Given the description of an element on the screen output the (x, y) to click on. 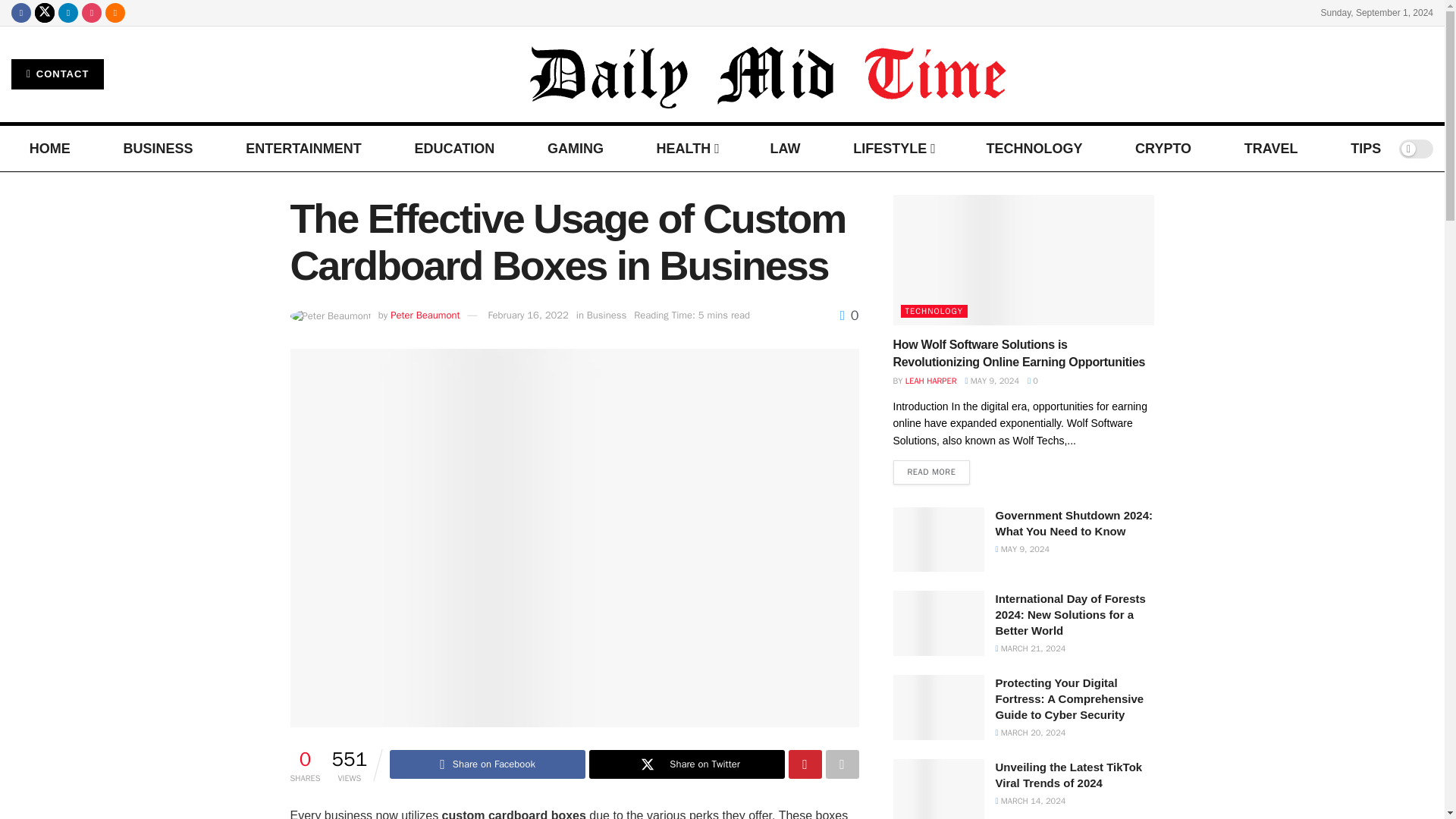
TRAVEL (1271, 148)
ENTERTAINMENT (303, 148)
TIPS (1365, 148)
CRYPTO (1163, 148)
LIFESTYLE (893, 148)
TECHNOLOGY (1033, 148)
BUSINESS (157, 148)
CONTACT (57, 73)
GAMING (575, 148)
LAW (784, 148)
